Given the description of an element on the screen output the (x, y) to click on. 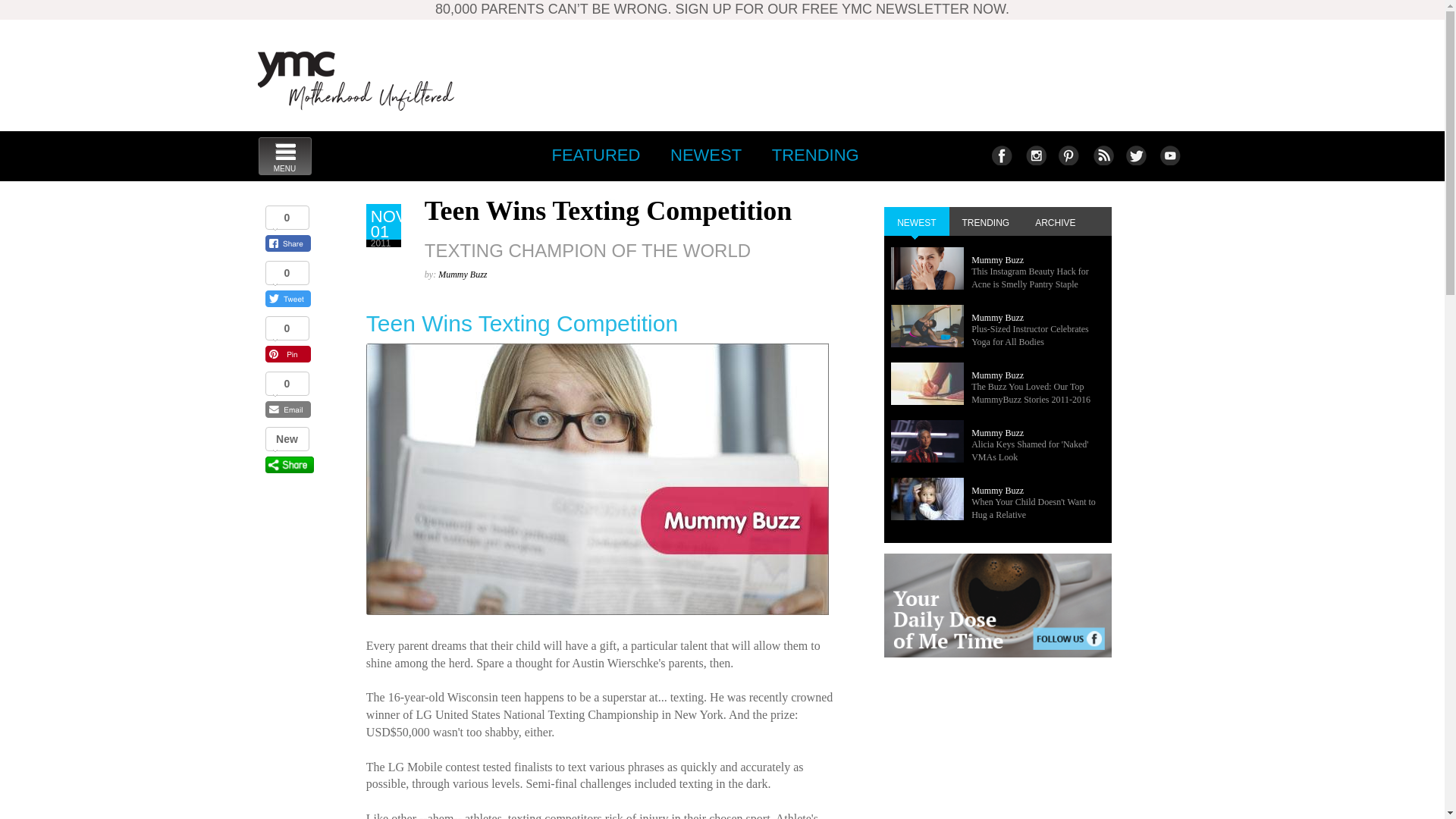
FEATURED (595, 155)
Twitter (284, 156)
Instagram (1135, 154)
Facebook (1034, 154)
Pinterest (1001, 154)
RSS (1068, 154)
SEARCH (1101, 154)
TRENDING (591, 205)
NEWEST (815, 155)
Skip to main content (705, 155)
YouTube (355, 79)
